Given the description of an element on the screen output the (x, y) to click on. 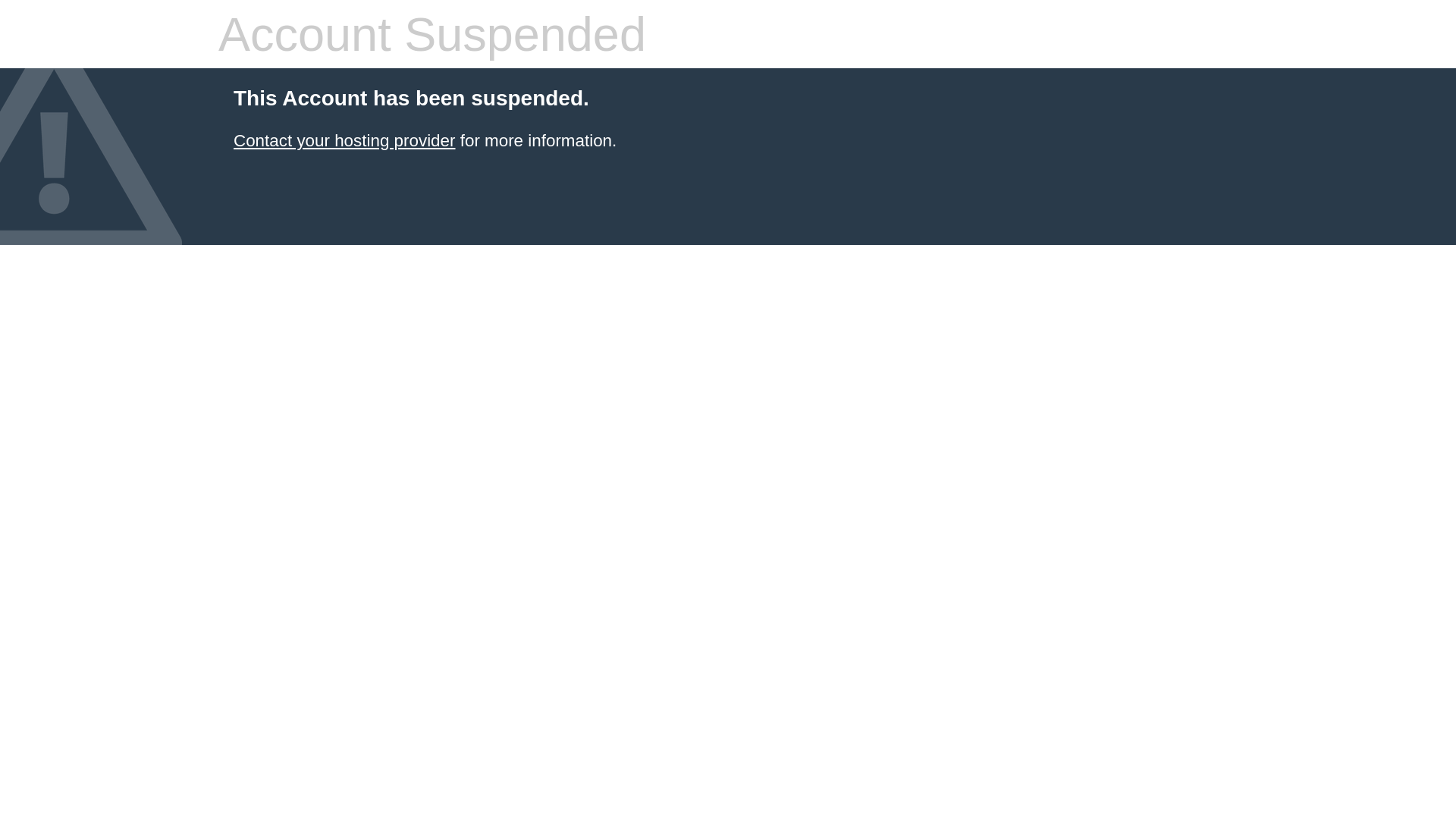
Contact your hosting provider Element type: text (344, 140)
